Given the description of an element on the screen output the (x, y) to click on. 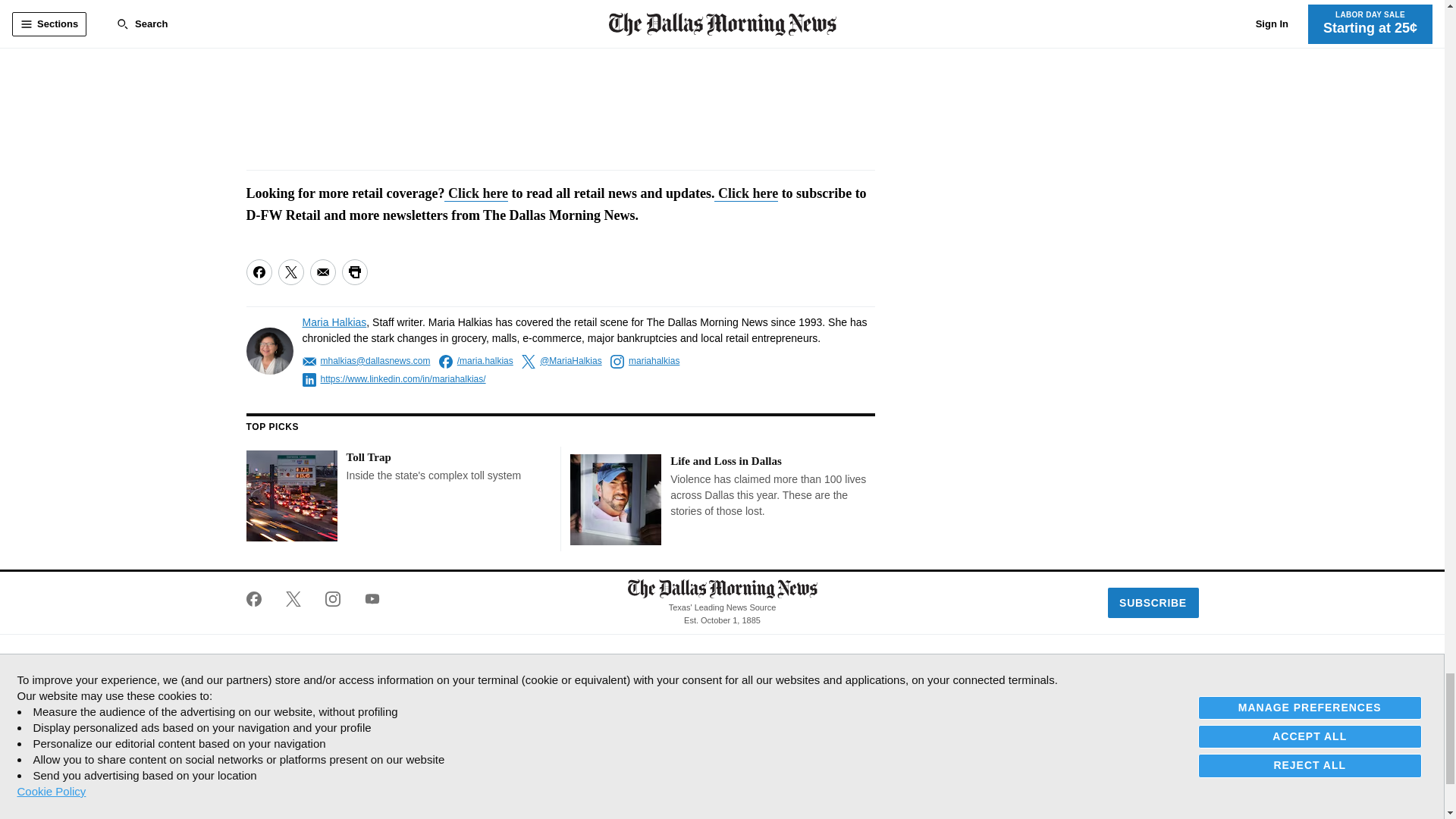
The Dallas Morning News on Facebook (259, 598)
The Dallas Morning News on Instagram (332, 598)
The Dallas Morning News on Twitter (293, 598)
Share on Facebook (258, 272)
Share on Twitter (290, 272)
Share via Email (321, 272)
Print (353, 272)
